Given the description of an element on the screen output the (x, y) to click on. 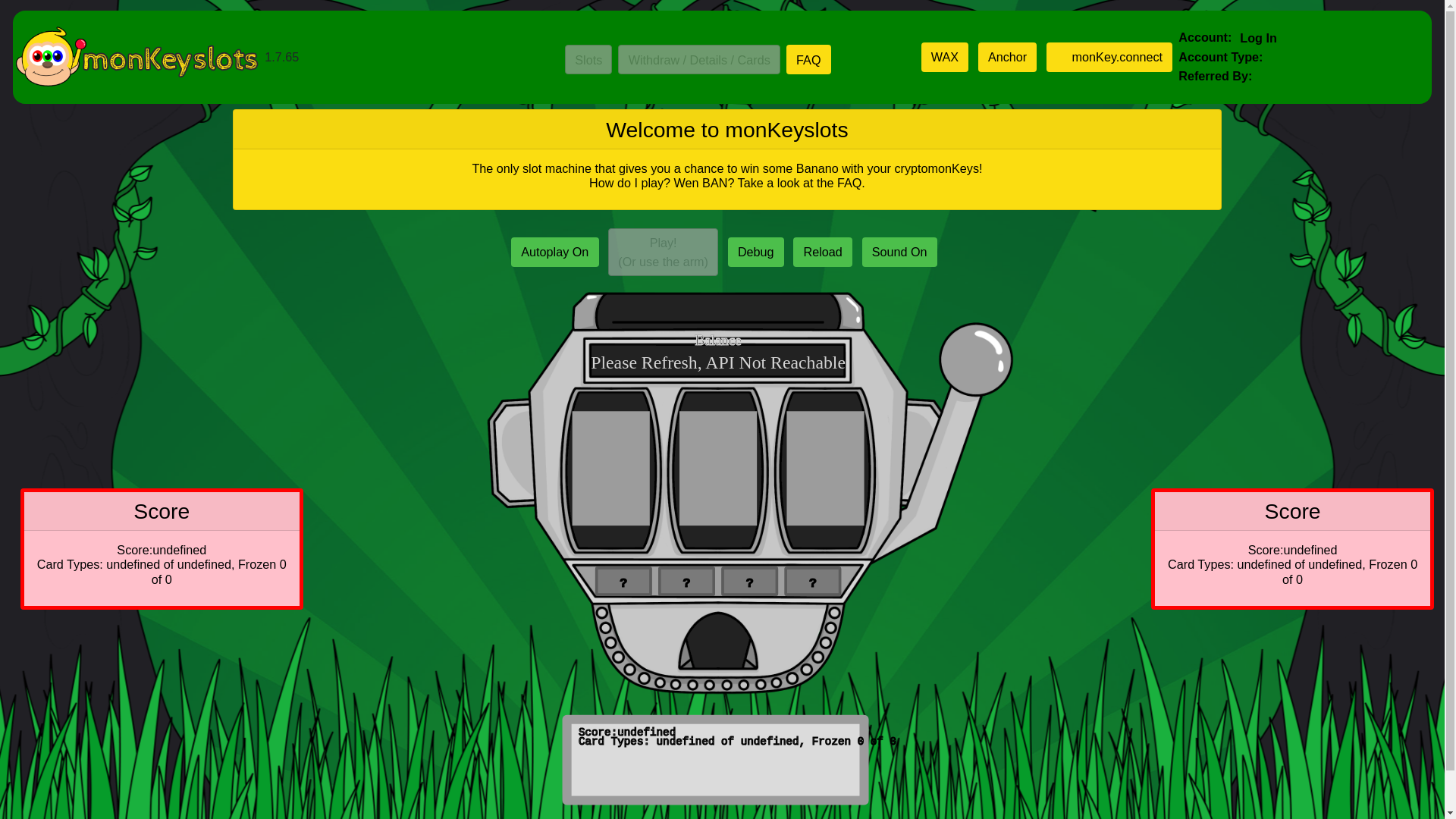
Withdraw / Details / Cards Element type: text (698, 58)
monKey.connect Element type: text (1109, 56)
Play!
(Or use the arm) Element type: text (663, 252)
Autoplay On Element type: text (554, 251)
Slots Element type: text (587, 58)
FAQ Element type: text (808, 58)
Anchor Element type: text (1007, 56)
WAX Element type: text (945, 56)
Reload Element type: text (822, 251)
1.7.65 Element type: text (249, 56)
Sound On Element type: text (898, 251)
Debug Element type: text (756, 251)
